Given the description of an element on the screen output the (x, y) to click on. 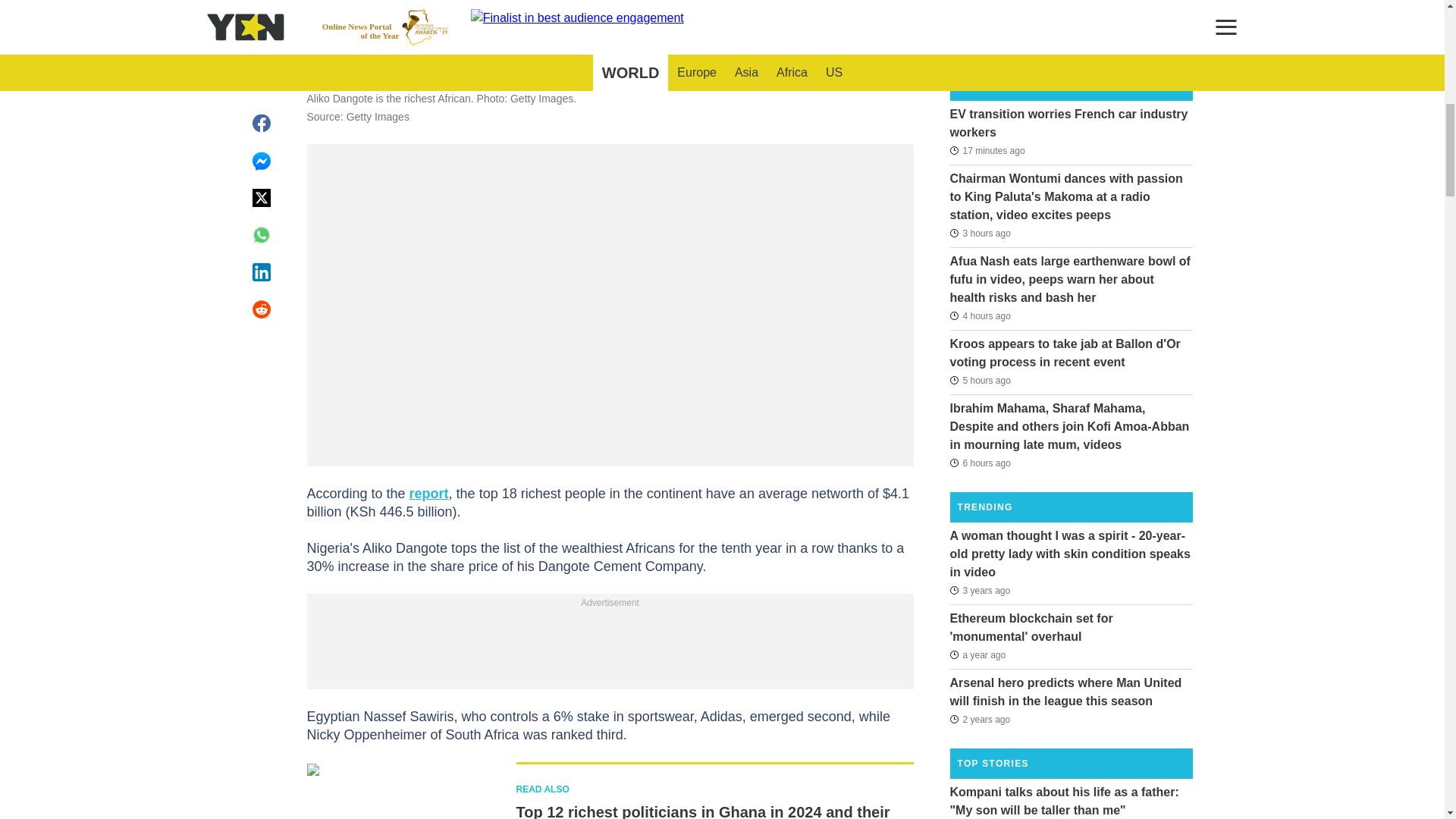
2024-08-03T21:07:29Z (979, 462)
2024-08-03T22:30:03Z (979, 315)
2024-08-03T23:46:02Z (979, 233)
2022-09-11T05:29:05Z (977, 655)
2024-08-04T02:57:05Z (987, 149)
Aliko Dangote speaking at a past event. (609, 31)
2024-08-03T21:17:10Z (979, 380)
2021-07-01T10:19:49Z (979, 589)
2021-10-12T14:02:45Z (979, 719)
